Given the description of an element on the screen output the (x, y) to click on. 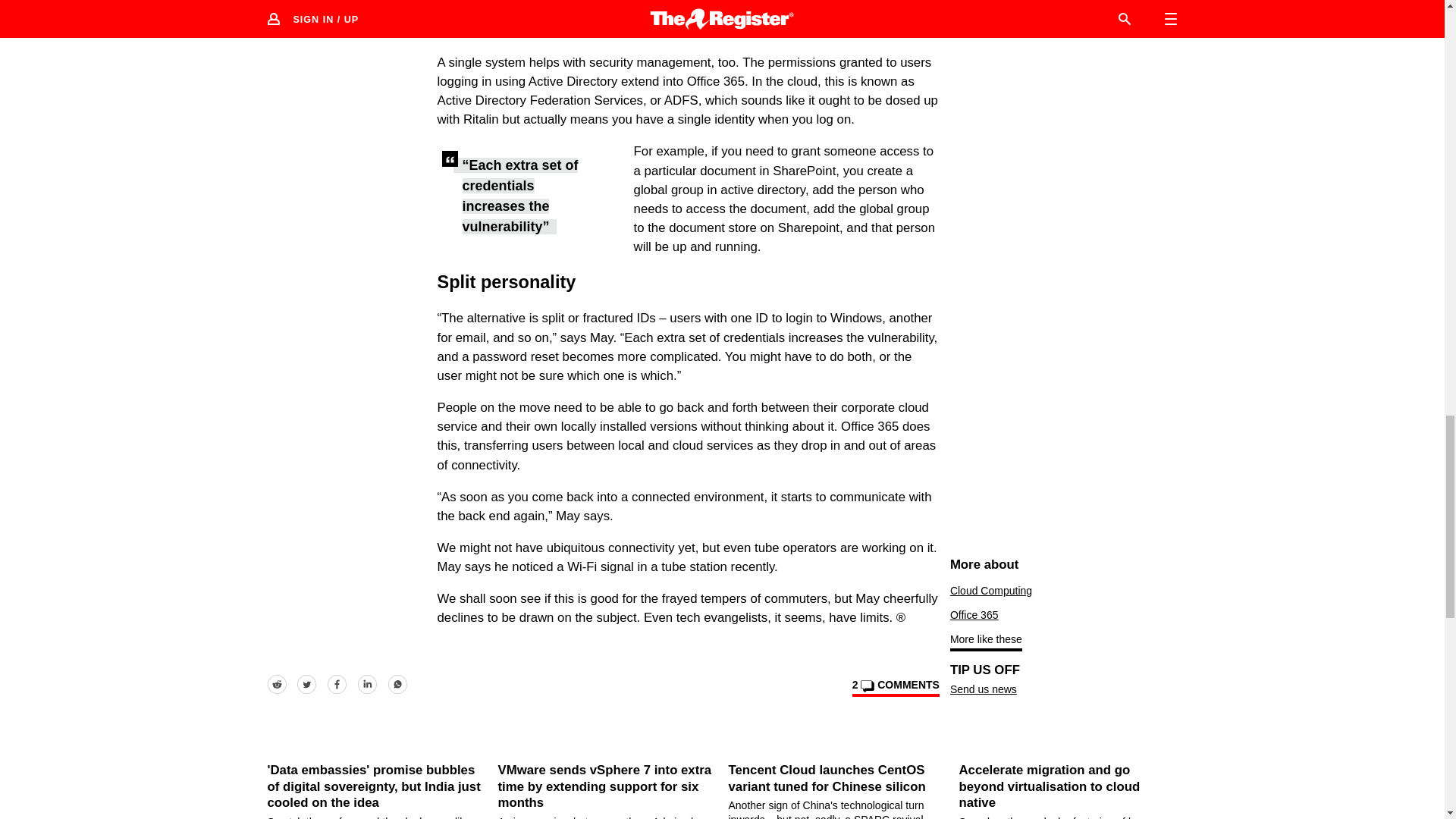
View comments on this article (895, 687)
